Given the description of an element on the screen output the (x, y) to click on. 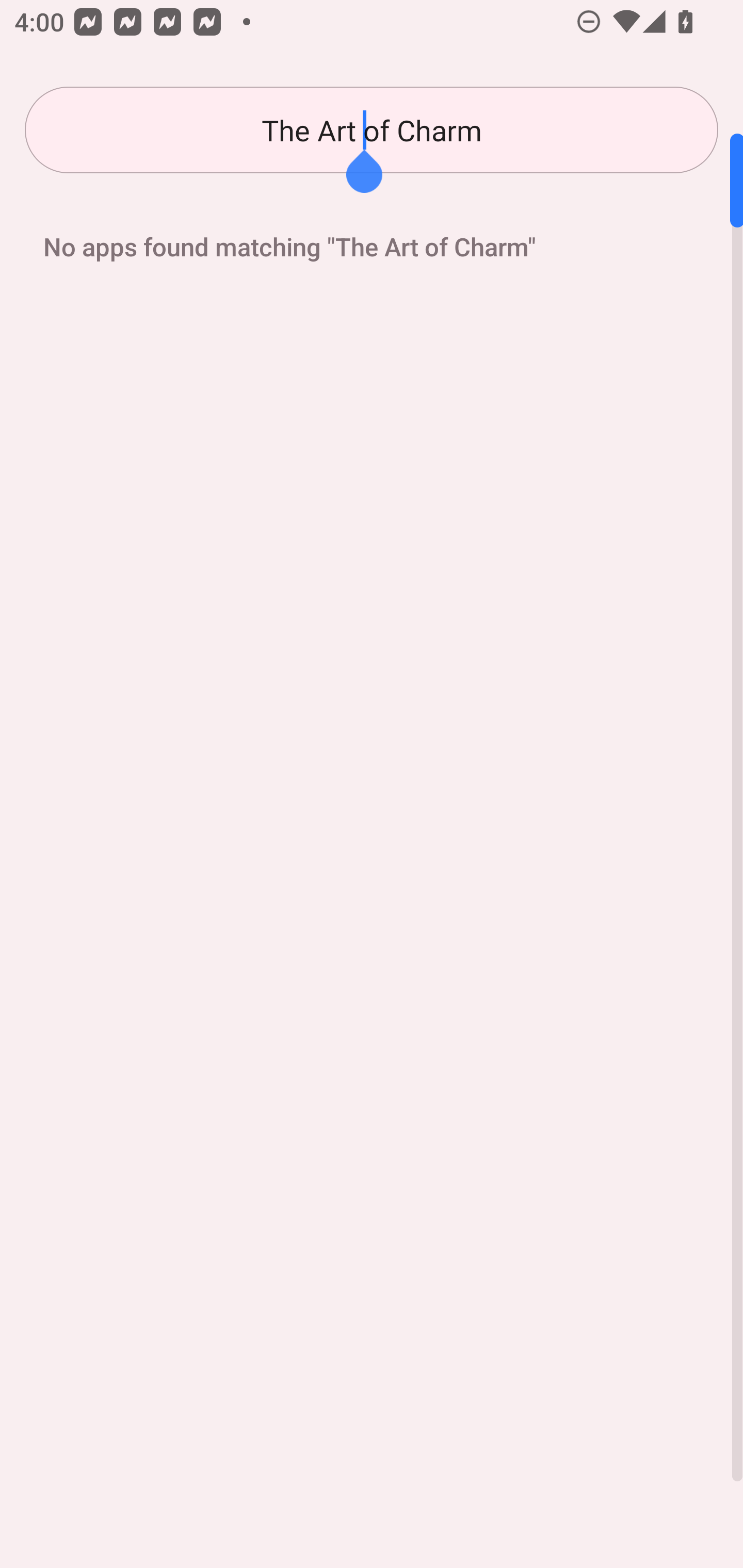
The Art of Charm (371, 130)
